Given the description of an element on the screen output the (x, y) to click on. 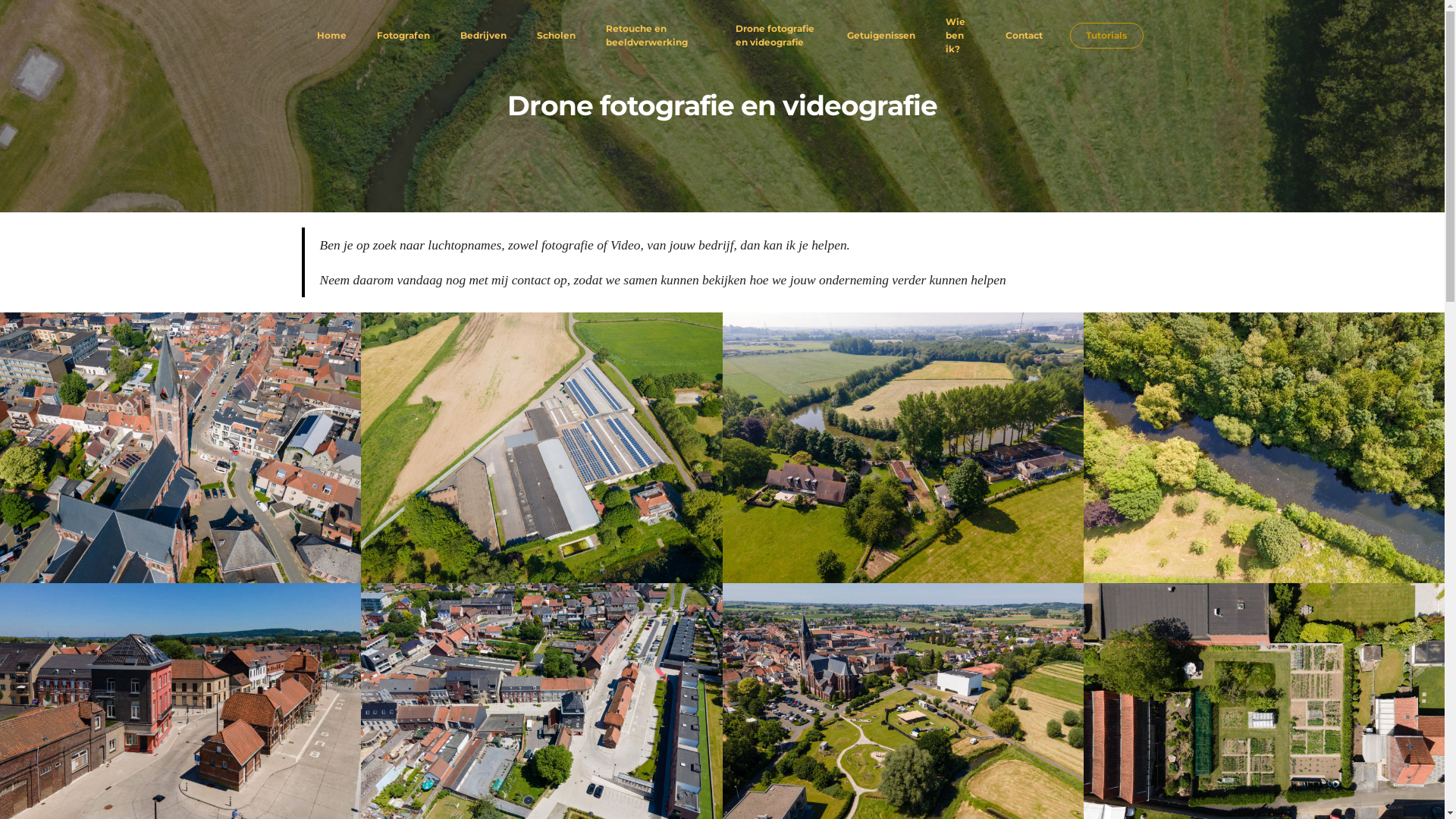
Getuigenissen Element type: text (881, 35)
Retouche en beeldverwerking Element type: text (654, 35)
Home Element type: text (331, 35)
Tutorials Element type: text (1106, 35)
Scholen Element type: text (555, 35)
Drone fotografie en videografie Element type: text (775, 35)
Contact Element type: text (1023, 35)
Fotografen Element type: text (402, 35)
Bedrijven Element type: text (482, 35)
Wie ben ik? Element type: text (960, 35)
